Given the description of an element on the screen output the (x, y) to click on. 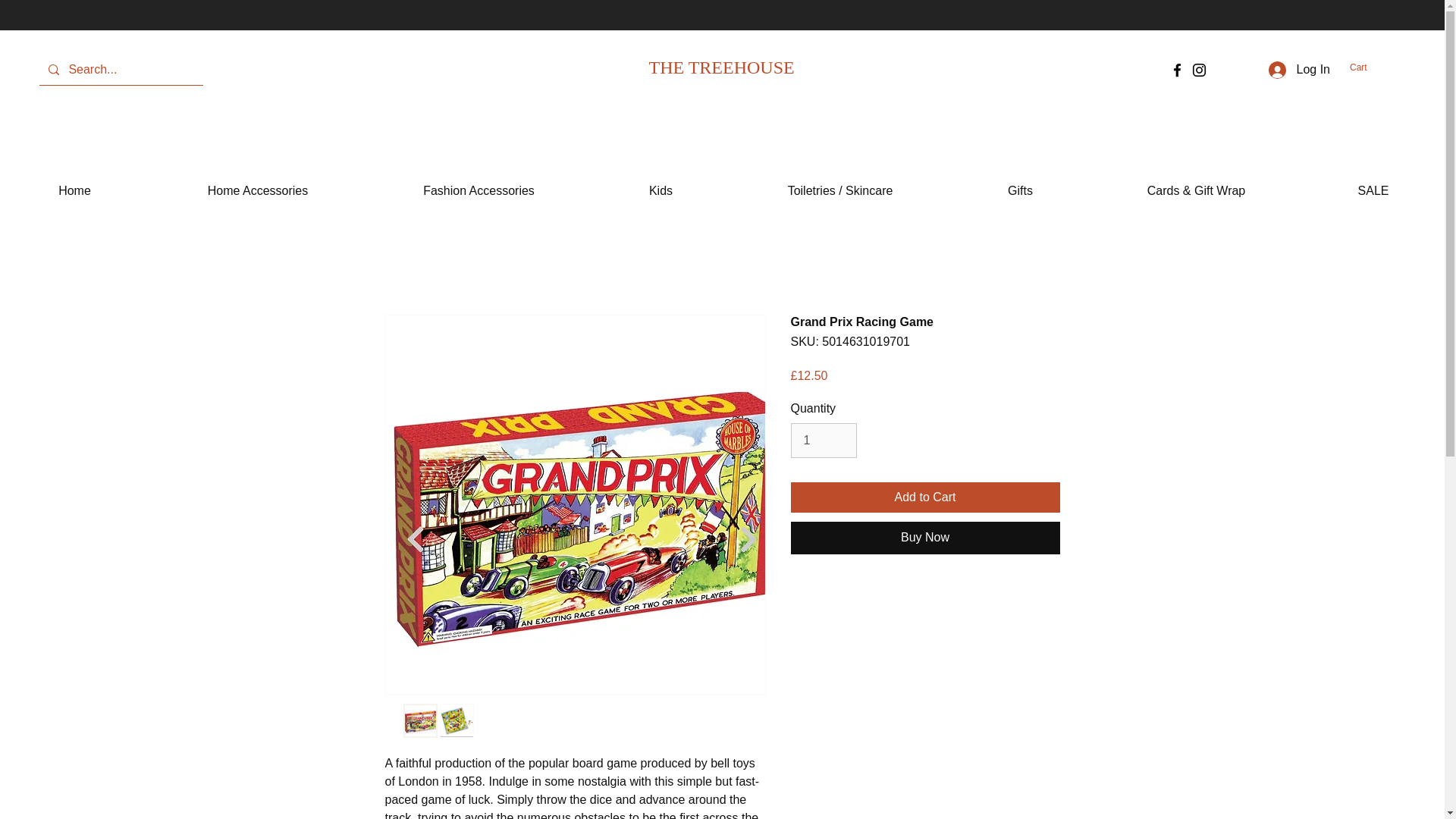
Gifts (1020, 184)
Fashion Accessories (478, 184)
Cart (1366, 67)
Home Accessories (257, 184)
Home (74, 184)
Kids (660, 184)
Cart (1366, 67)
Add to Cart (924, 497)
1 (823, 440)
Log In (1298, 69)
